Given the description of an element on the screen output the (x, y) to click on. 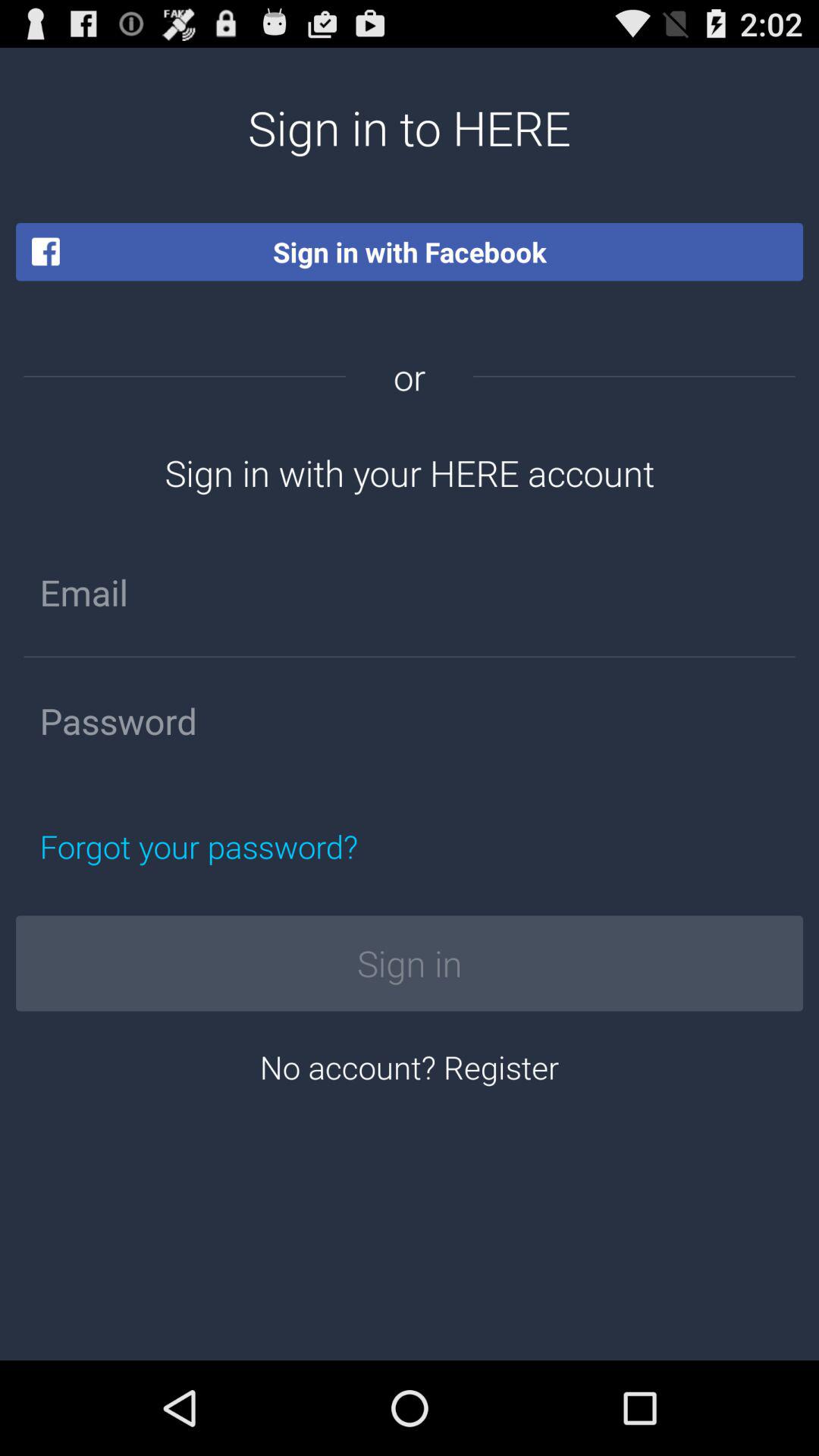
turn off icon below sign in item (409, 1066)
